Given the description of an element on the screen output the (x, y) to click on. 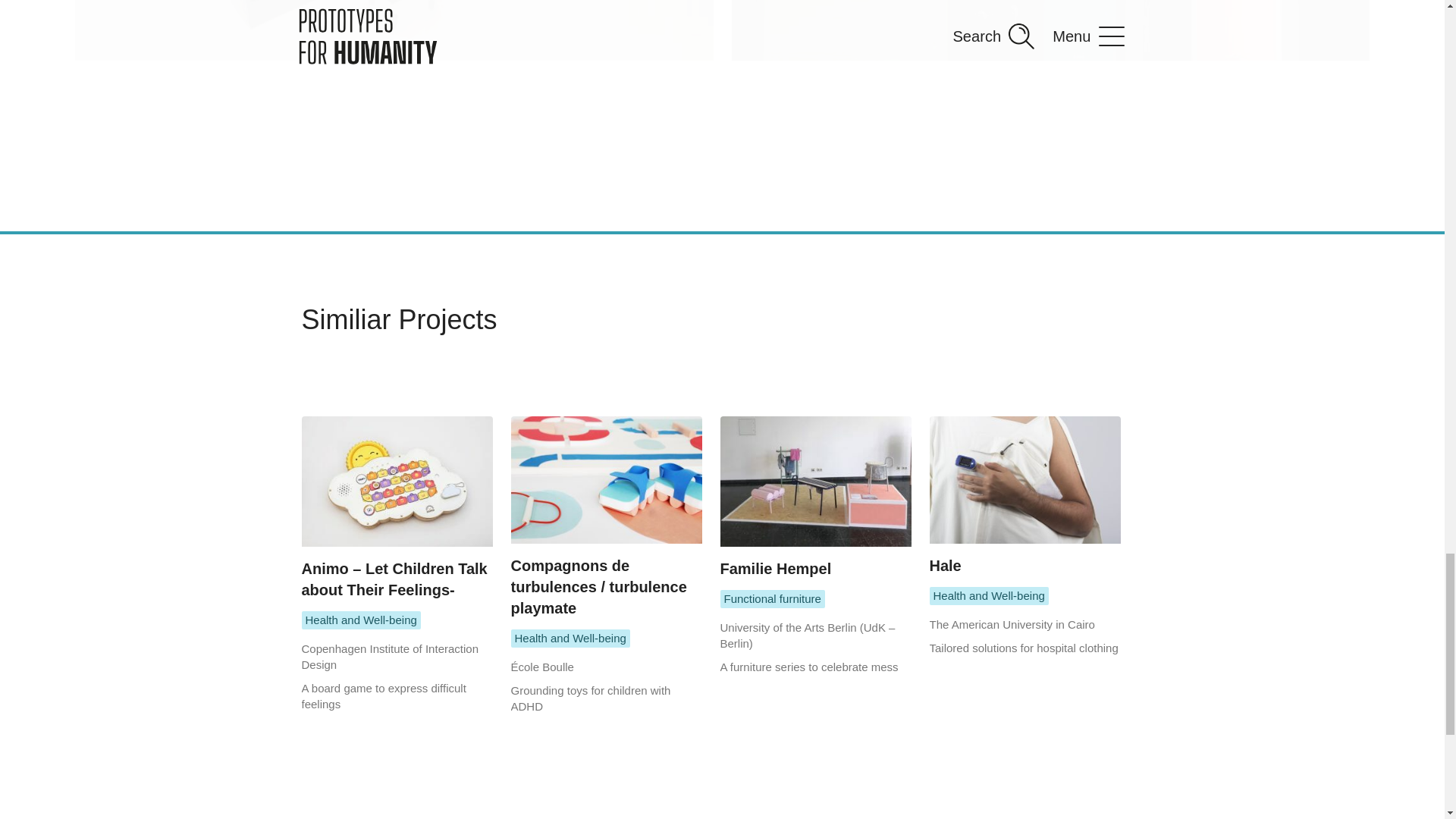
Familie Hempel (815, 497)
Hale (1025, 496)
Health and Well-being (570, 638)
Functional furniture (772, 598)
Health and Well-being (989, 596)
The American University in Cairo (1012, 624)
Health and Well-being (360, 619)
Copenhagen Institute of Interaction Design (390, 656)
